Given the description of an element on the screen output the (x, y) to click on. 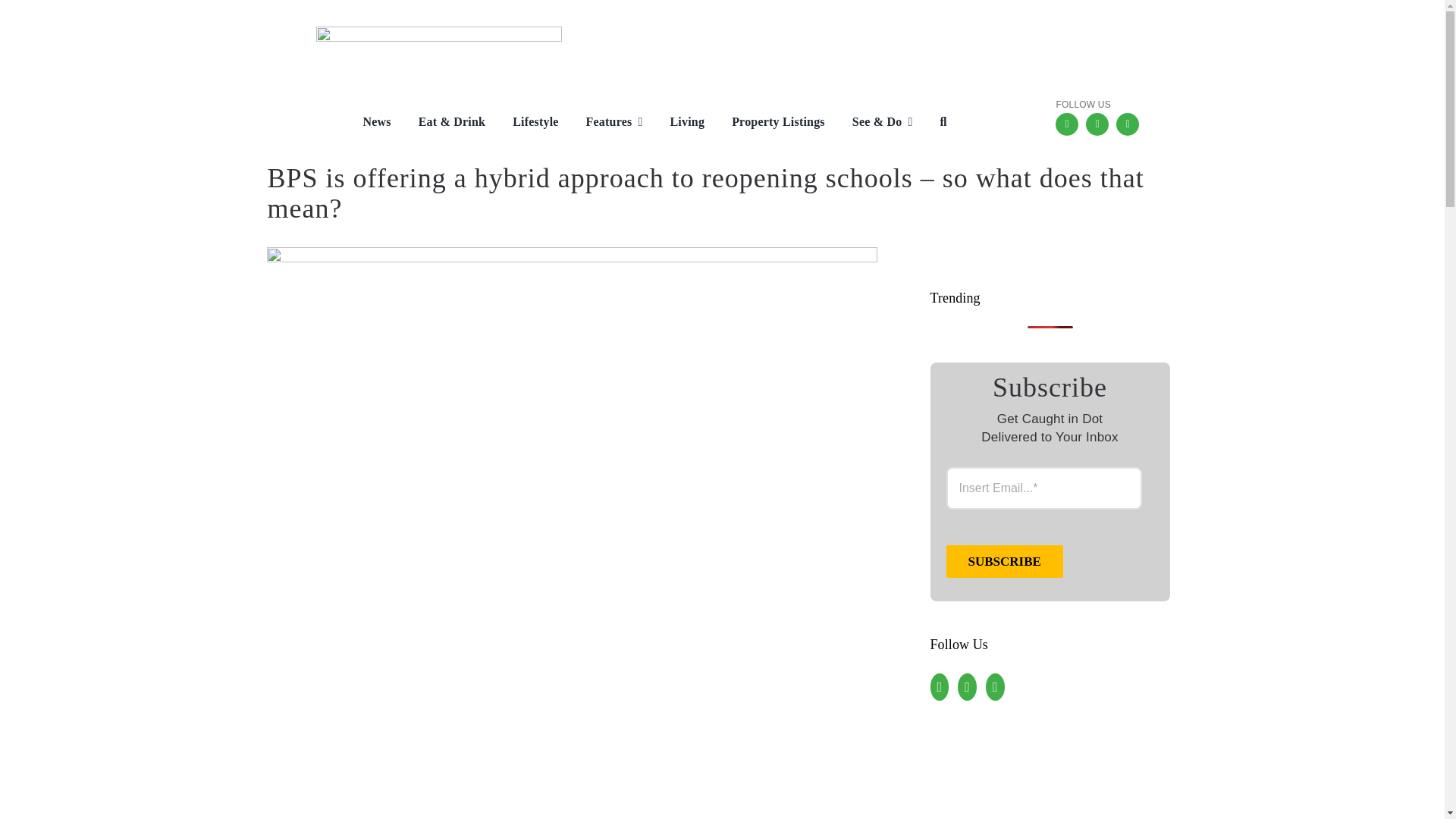
Lifestyle (523, 122)
Property Listings (767, 122)
Instagram (1097, 124)
Living (675, 122)
Facebook (1066, 124)
Subscribe (1004, 561)
Features (603, 122)
X (1127, 124)
News (364, 122)
